Given the description of an element on the screen output the (x, y) to click on. 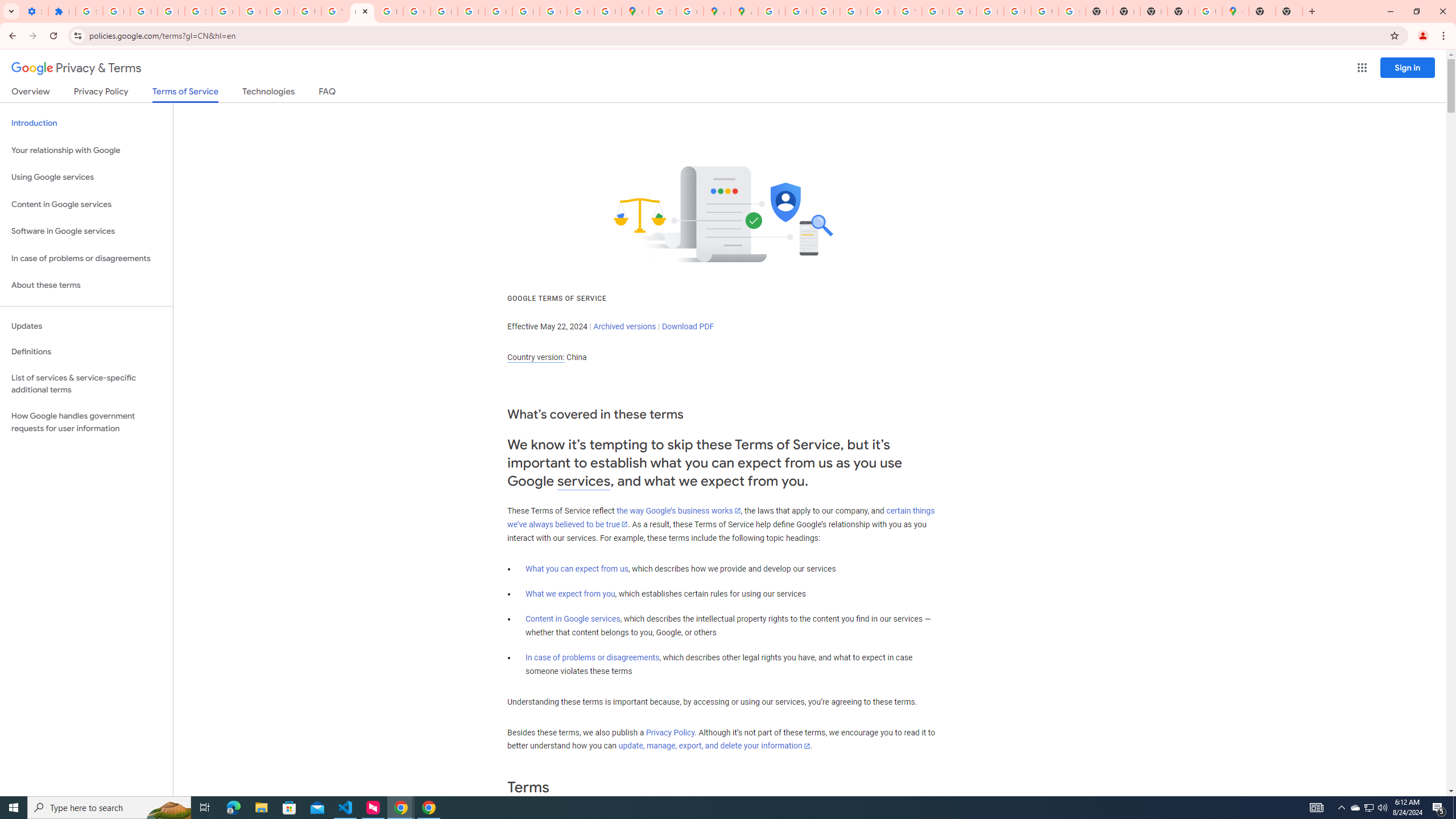
Privacy Help Center - Policies Help (826, 11)
What we expect from you (570, 593)
Privacy Help Center - Policies Help (799, 11)
Google Maps (634, 11)
